Given the description of an element on the screen output the (x, y) to click on. 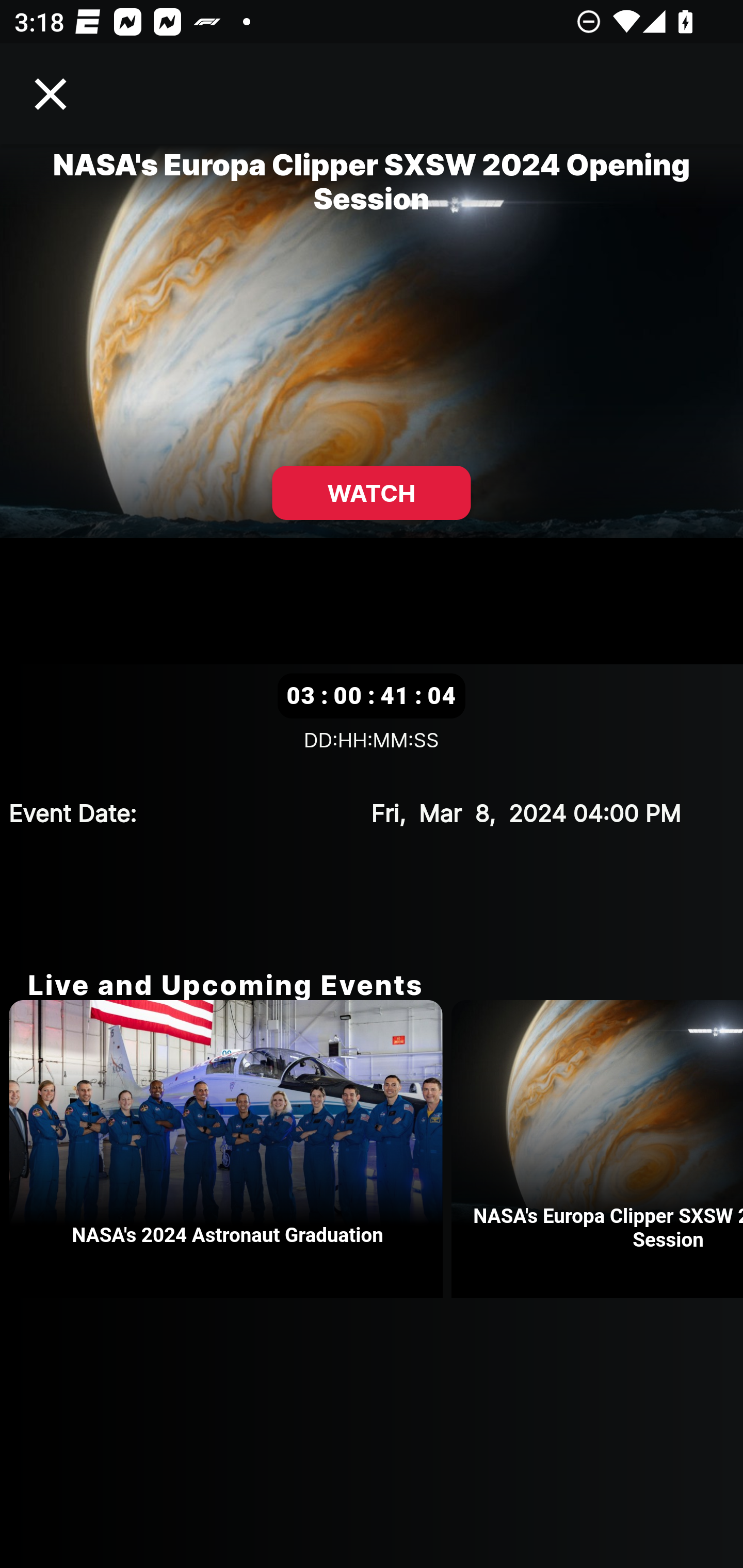
WATCH (371, 492)
NASA's 2024 Astronaut Graduation (229, 1149)
NASA's Europa Clipper SXSW 2024 Opening Session (597, 1149)
